Given the description of an element on the screen output the (x, y) to click on. 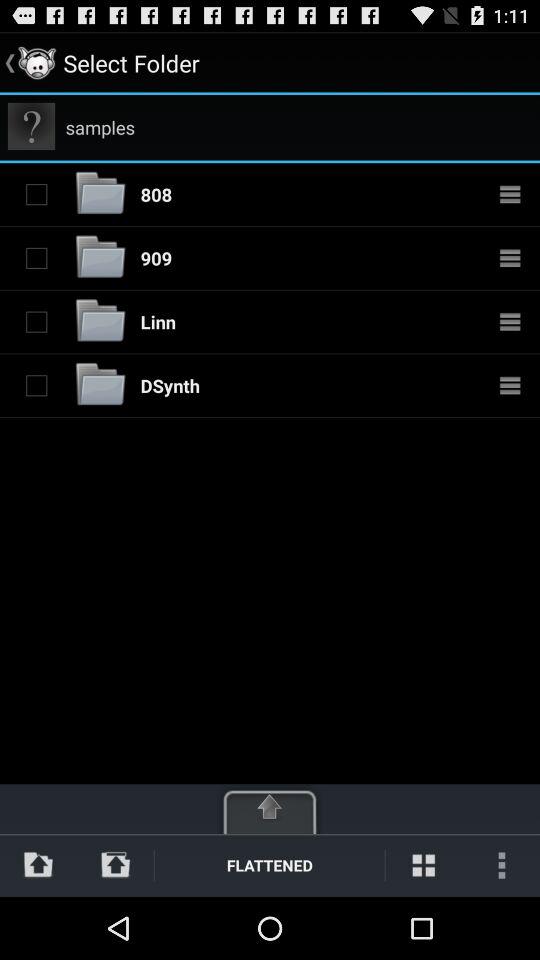
list of options for that file (510, 257)
